Given the description of an element on the screen output the (x, y) to click on. 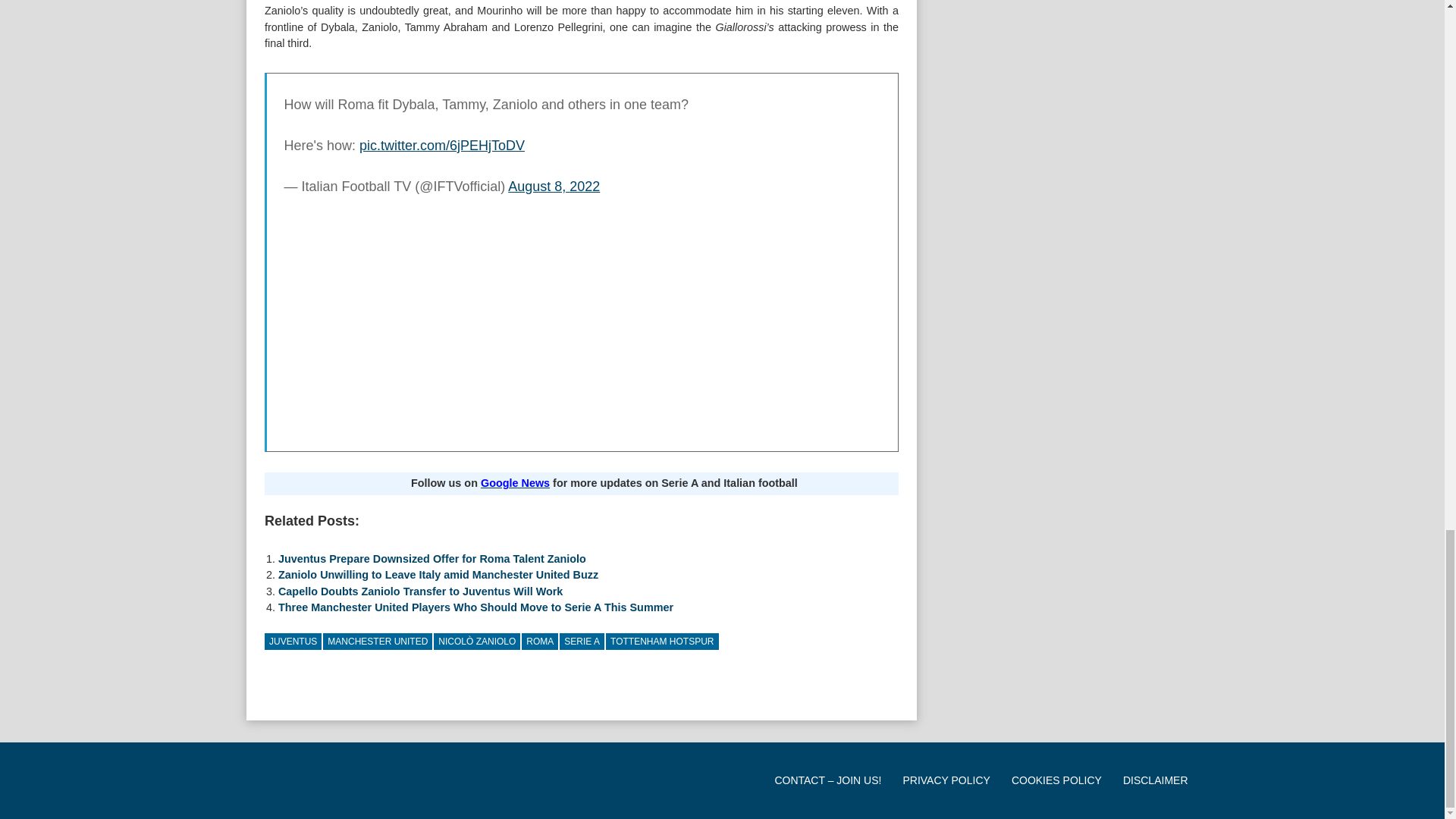
Capello Doubts Zaniolo Transfer to Juventus Will Work (420, 591)
Zaniolo Unwilling to Leave Italy amid Manchester United Buzz (438, 574)
Juventus Prepare Downsized Offer for Roma Talent Zaniolo (432, 558)
